Given the description of an element on the screen output the (x, y) to click on. 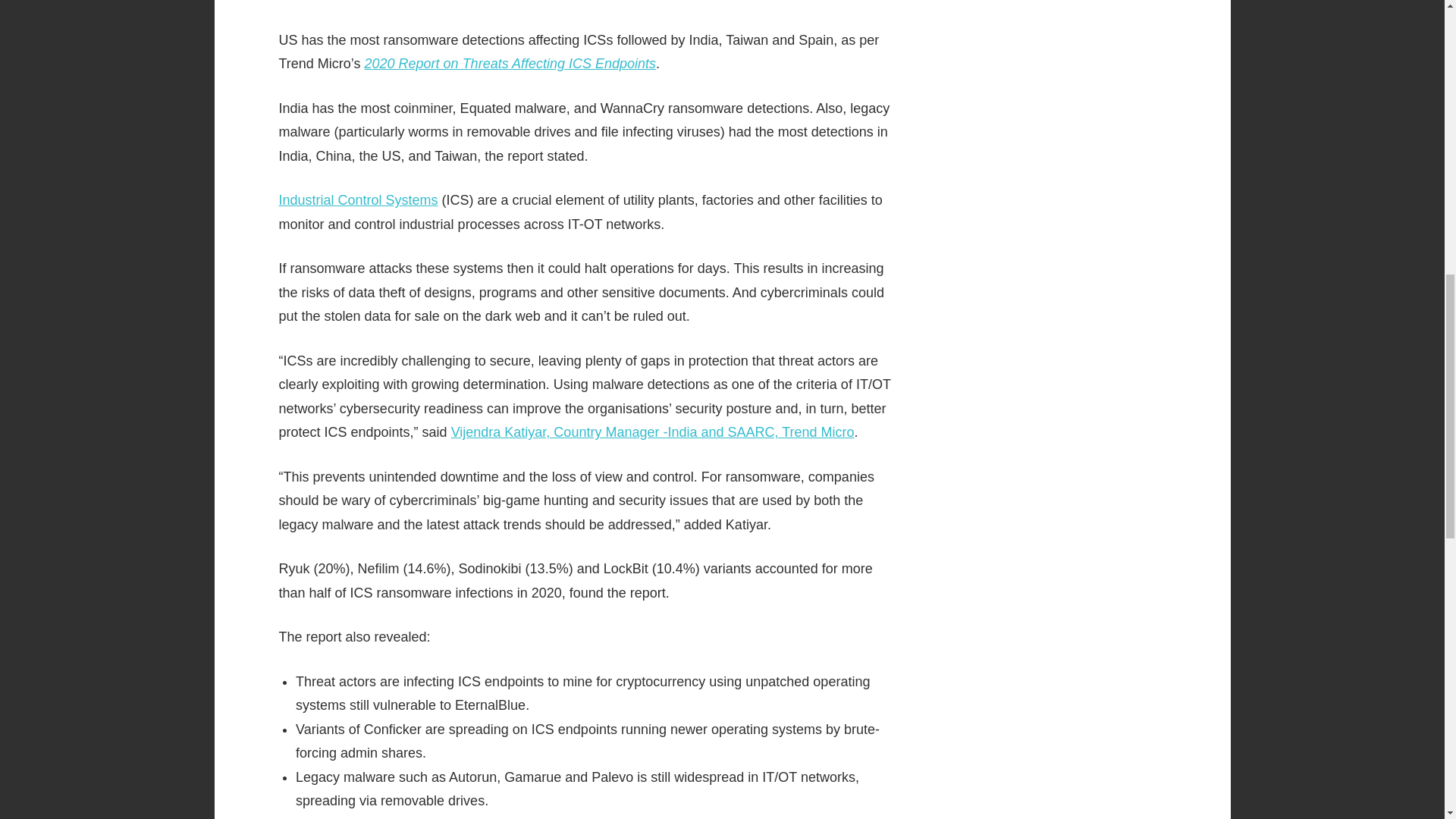
2020 Report on Threats Affecting ICS Endpoints (510, 63)
Industrial Control Systems (358, 200)
